Given the description of an element on the screen output the (x, y) to click on. 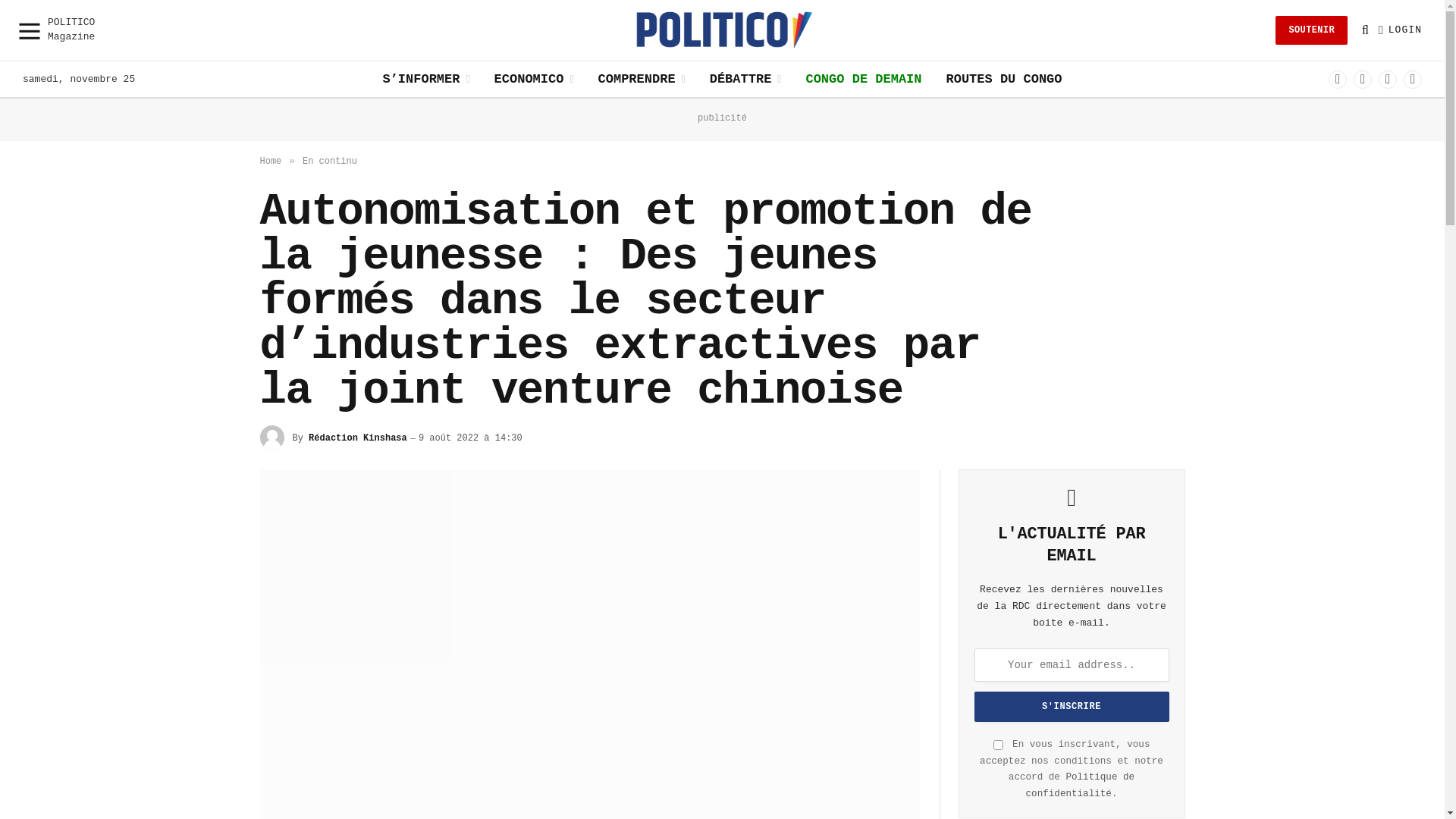
En continu Element type: text (329, 161)
COMPRENDRE Element type: text (641, 79)
LOGIN Element type: text (1399, 30)
Facebook Element type: text (1337, 78)
Politico.cd Element type: hover (722, 30)
Twitter Element type: text (1362, 78)
CONGO DE DEMAIN Element type: text (863, 79)
S'inscrire Element type: text (1070, 706)
YouTube Element type: text (1412, 78)
Search Element type: hover (1364, 30)
ROUTES DU CONGO Element type: text (1004, 79)
SOUTENIR Element type: text (1311, 29)
Home Element type: text (270, 161)
Instagram Element type: text (1387, 78)
ECONOMICO Element type: text (534, 79)
